Given the description of an element on the screen output the (x, y) to click on. 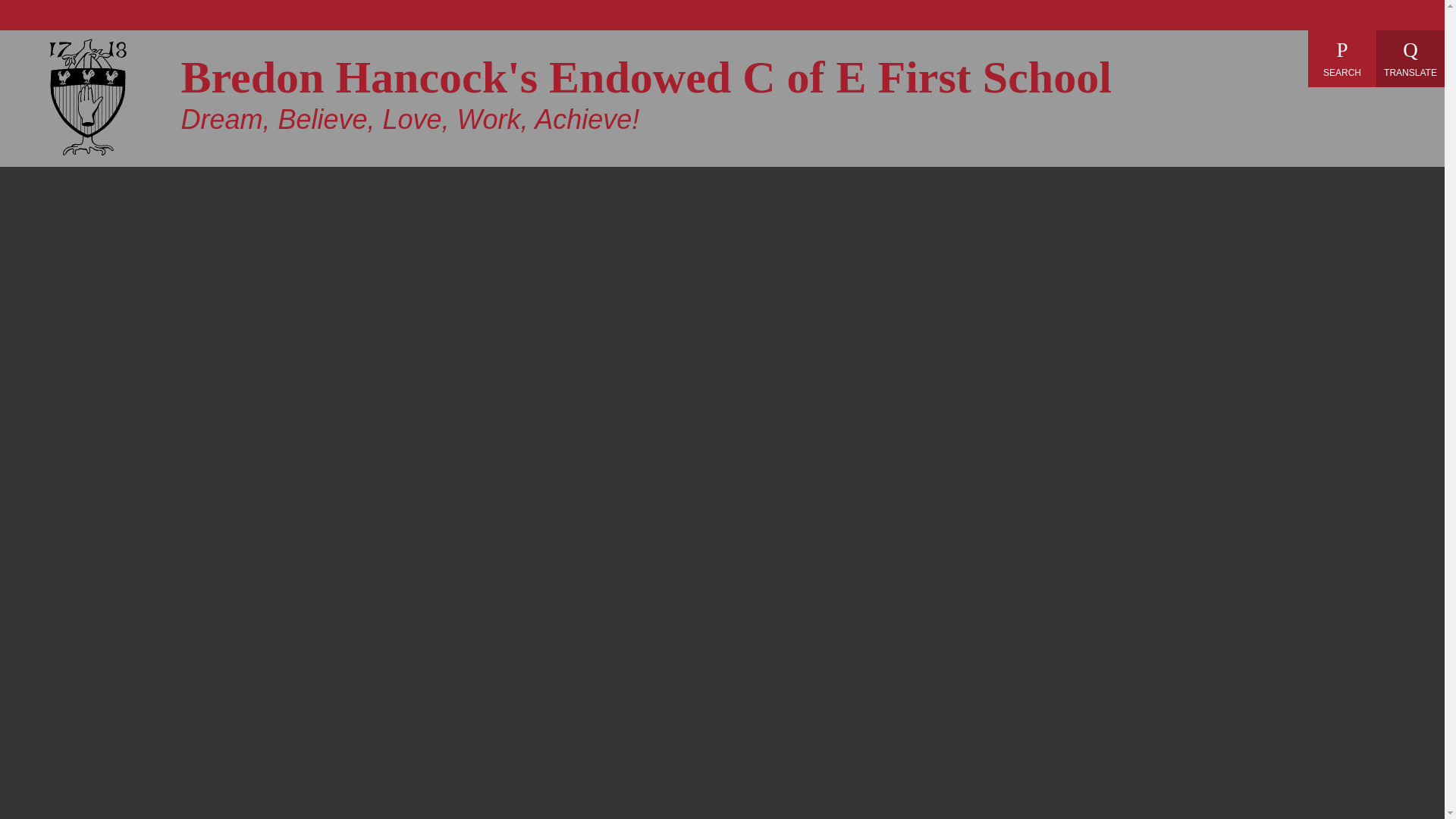
Home Page (88, 96)
